Given the description of an element on the screen output the (x, y) to click on. 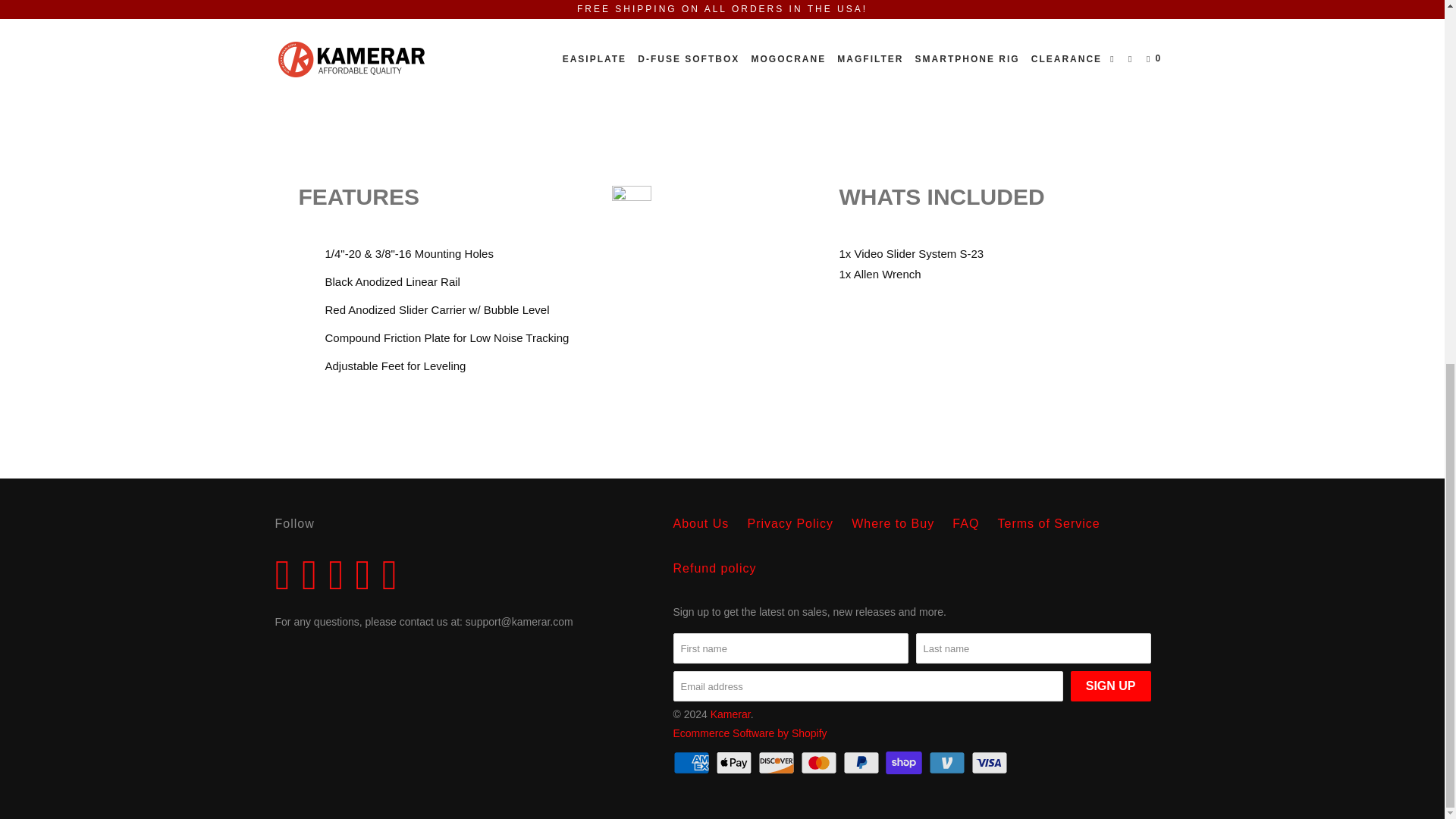
Discover (777, 762)
Shop Pay (904, 762)
Apple Pay (735, 762)
Sign Up (1110, 685)
Visa (990, 762)
PayPal (862, 762)
Venmo (948, 762)
American Express (692, 762)
Mastercard (820, 762)
